Given the description of an element on the screen output the (x, y) to click on. 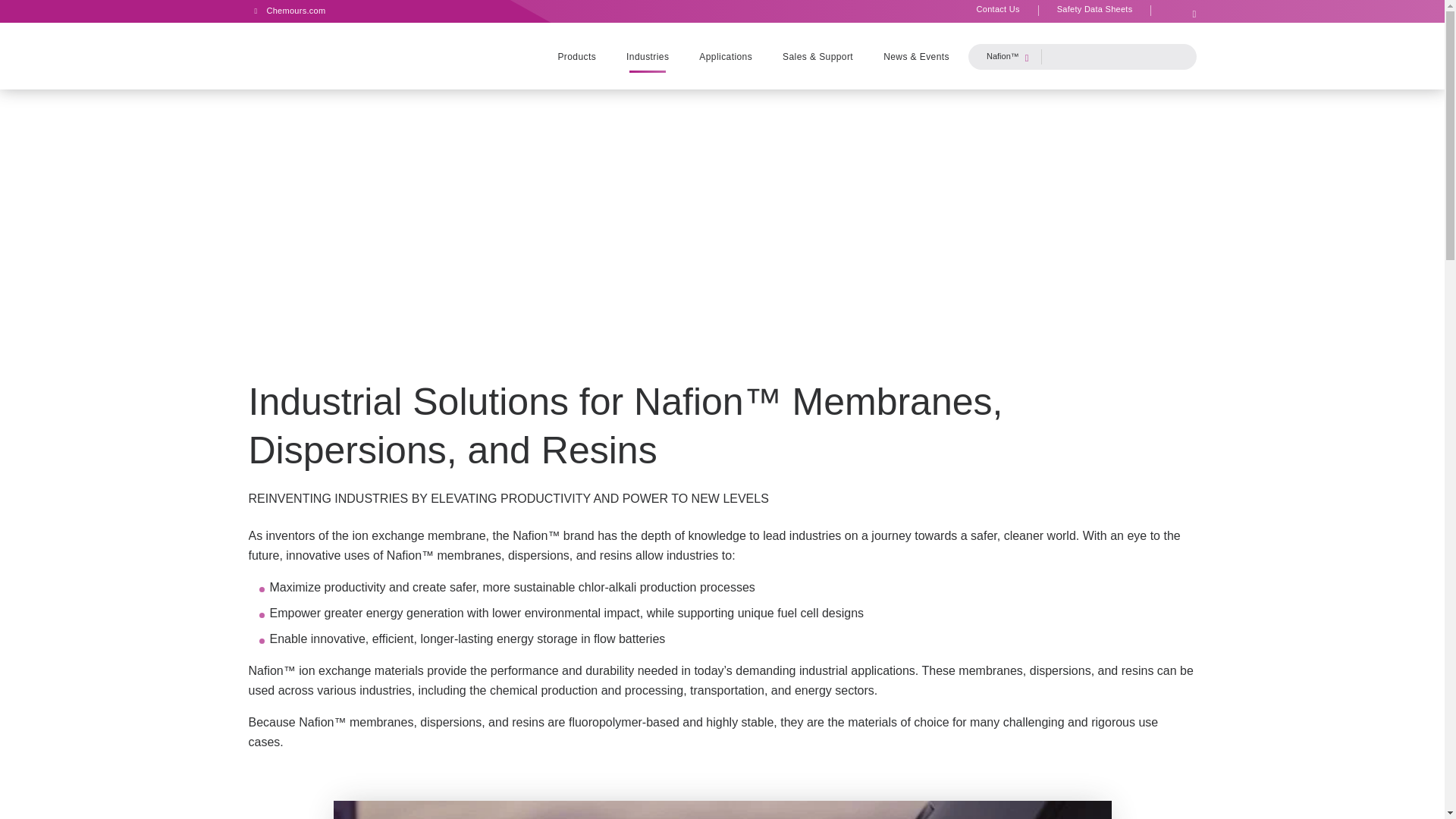
Contact Us (998, 9)
Chemours.com (287, 9)
Applications (725, 55)
Safety Data Sheets (1095, 9)
Header Logo (303, 59)
Products (584, 55)
Industries (647, 55)
